Given the description of an element on the screen output the (x, y) to click on. 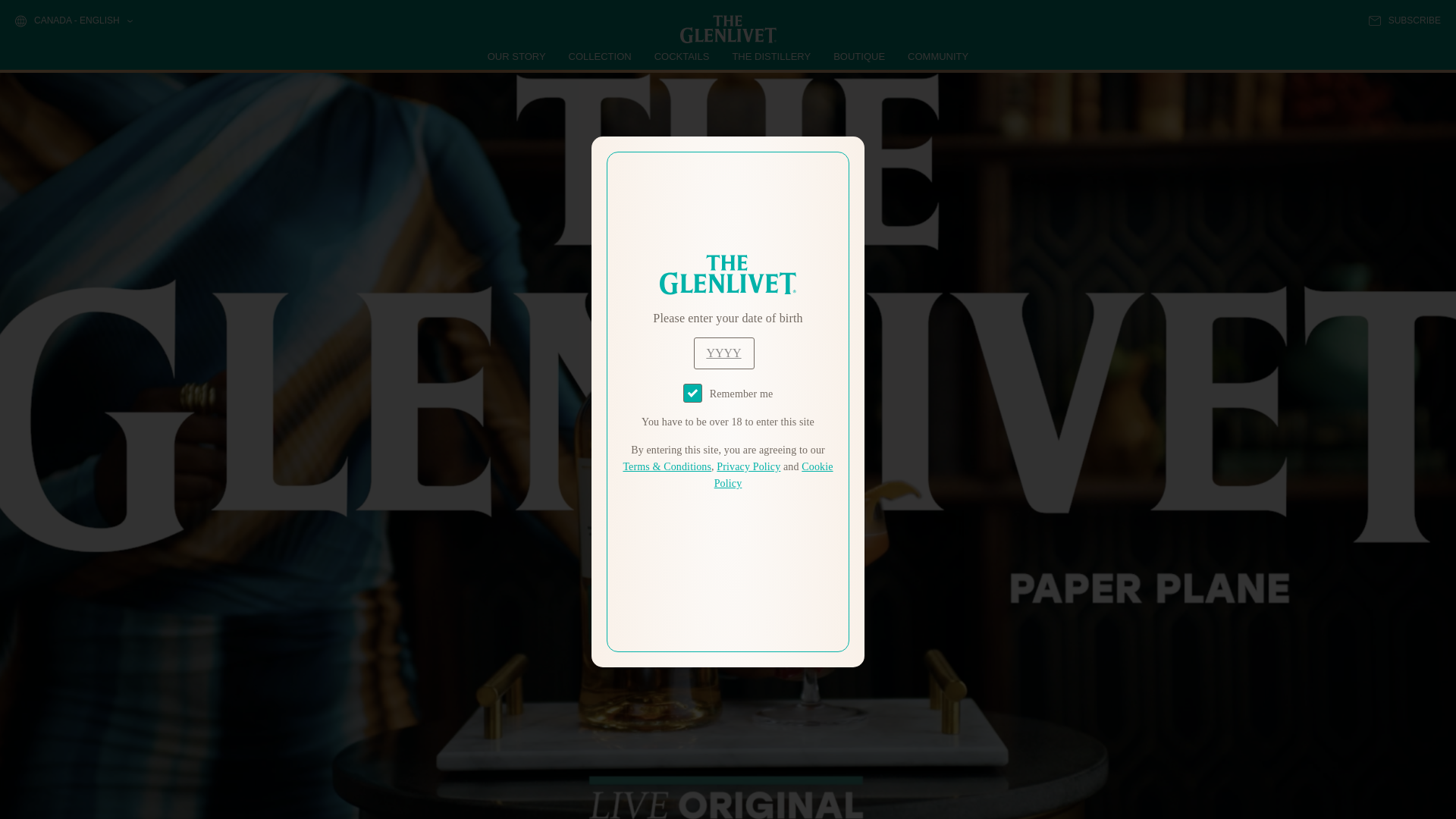
OUR STORY (516, 56)
COMMUNITY (937, 56)
COLLECTION (600, 56)
year (723, 353)
BOUTIQUE (858, 56)
SUBSCRIBE (1404, 20)
THE DISTILLERY (771, 56)
CANADA - ENGLISH (73, 21)
COCKTAILS (681, 56)
Privacy Policy (748, 466)
Cookie Policy (773, 474)
